Given the description of an element on the screen output the (x, y) to click on. 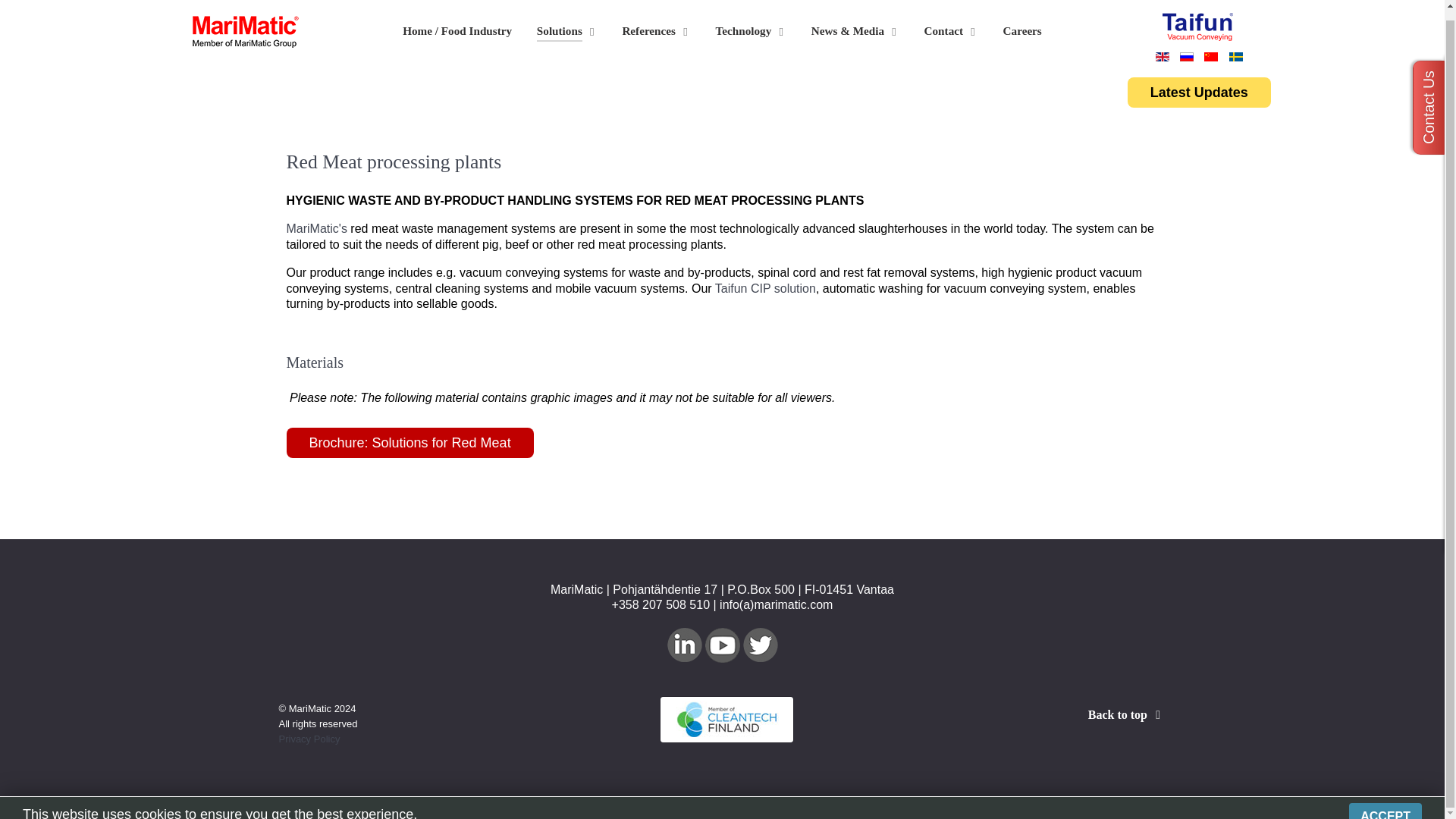
English (1162, 56)
Russian (1186, 56)
Back to top (1126, 714)
